Given the description of an element on the screen output the (x, y) to click on. 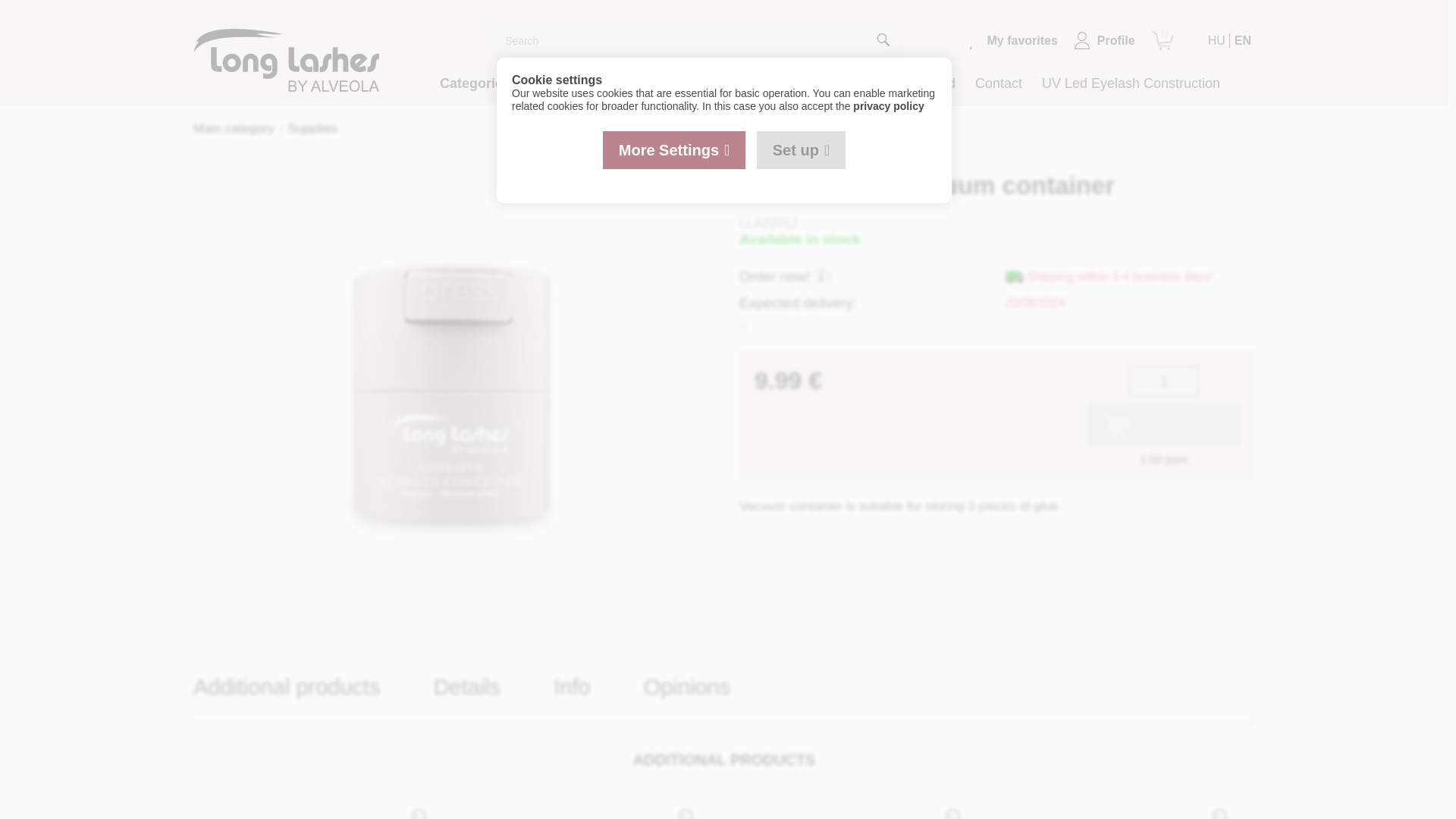
Blog (782, 83)
Enter a longer search term! (694, 40)
Contact (998, 83)
English (1242, 40)
Categories (478, 83)
1 (1163, 381)
Long Lashes Master Collection Glue 3g (581, 810)
Long Lashes Speed Glue 5ml (848, 810)
Long Lashes the brand (885, 83)
